Given the description of an element on the screen output the (x, y) to click on. 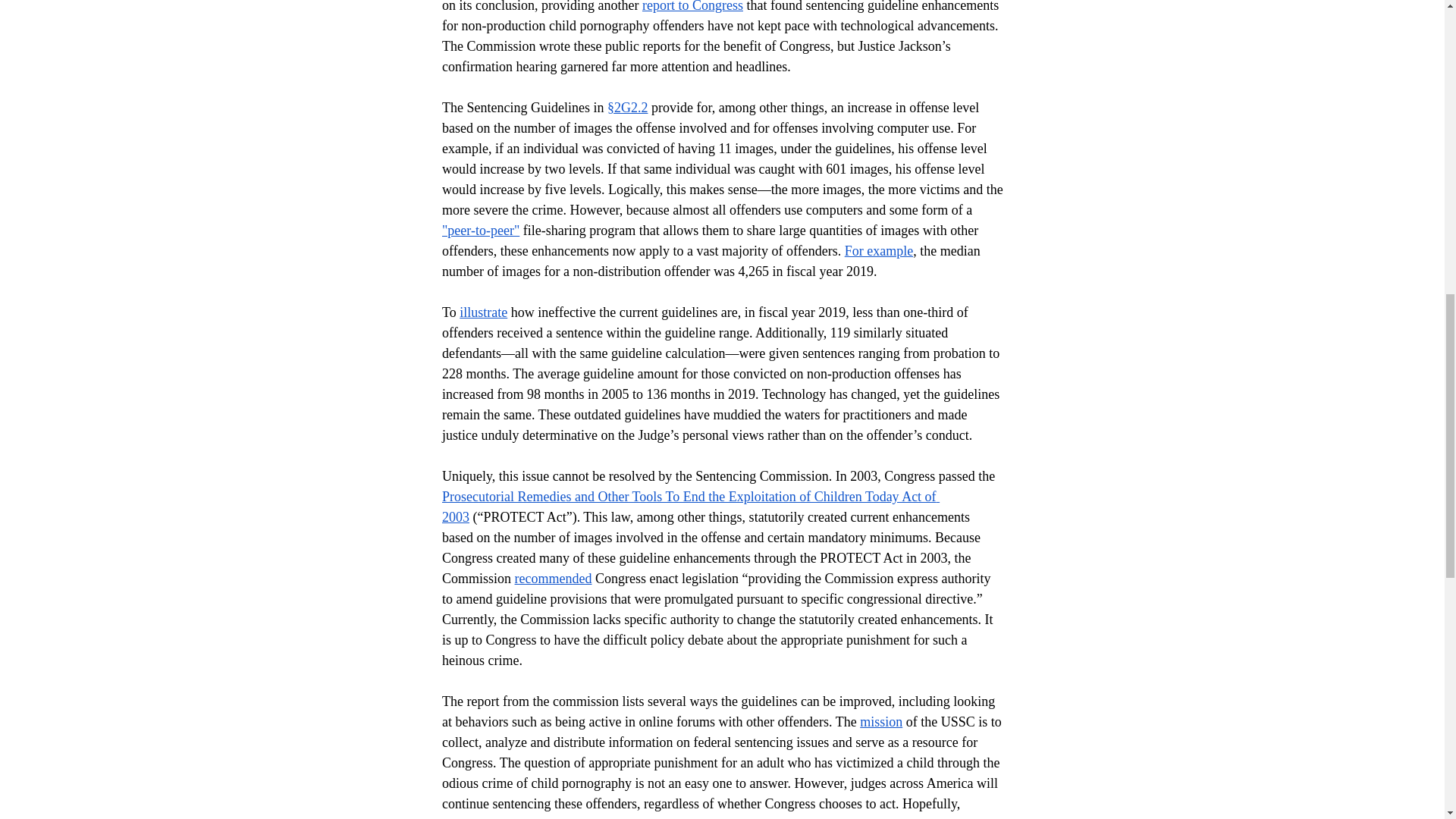
report to Congress (692, 6)
mission (881, 721)
recommended (552, 578)
For example (878, 250)
"peer-to-peer" (479, 230)
illustrate (483, 312)
